Given the description of an element on the screen output the (x, y) to click on. 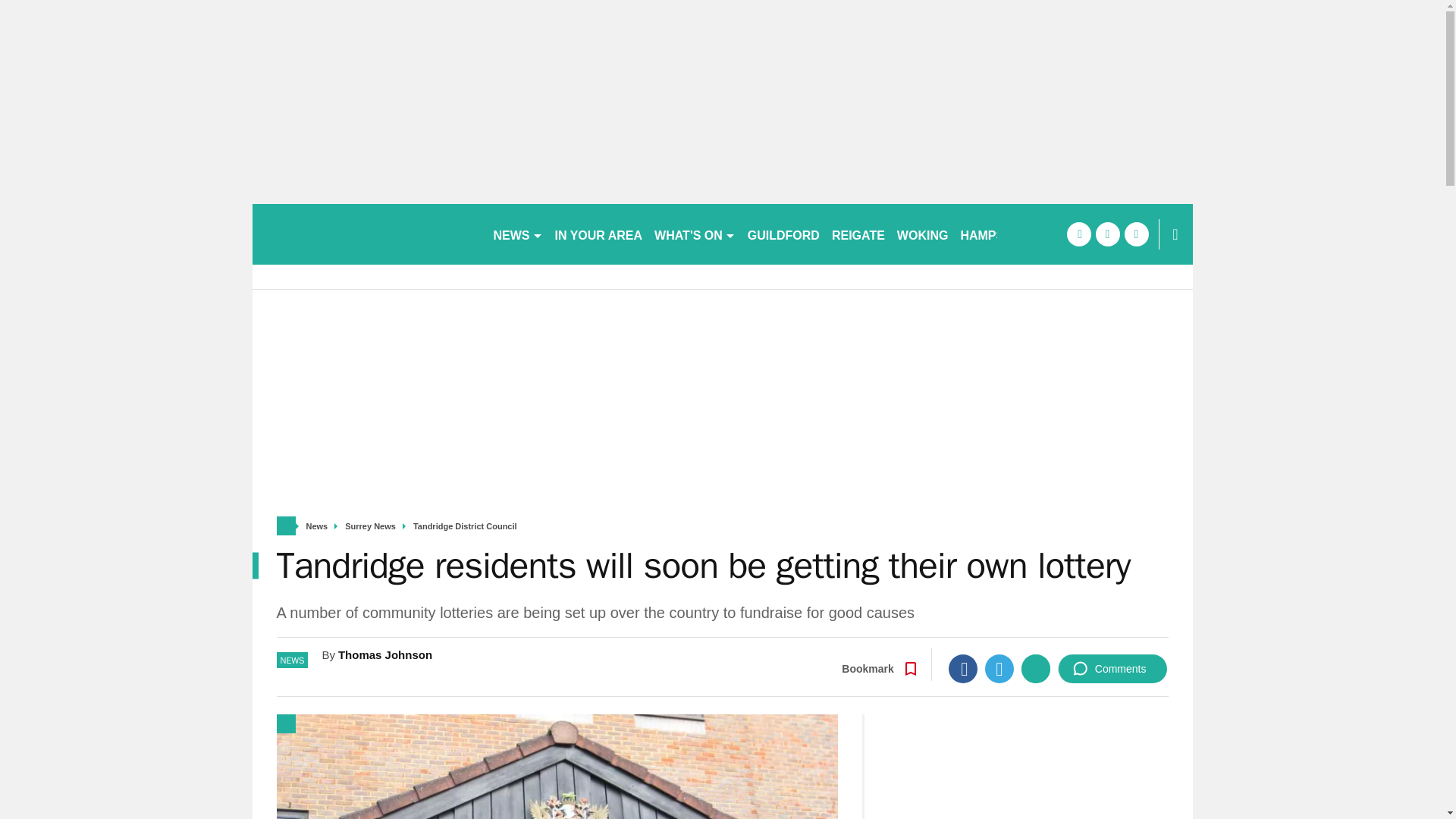
instagram (1136, 233)
IN YOUR AREA (598, 233)
WHAT'S ON (694, 233)
facebook (1077, 233)
twitter (1106, 233)
Facebook (962, 668)
GUILDFORD (783, 233)
WOKING (923, 233)
Comments (1112, 668)
HAMPSHIRE (996, 233)
